Given the description of an element on the screen output the (x, y) to click on. 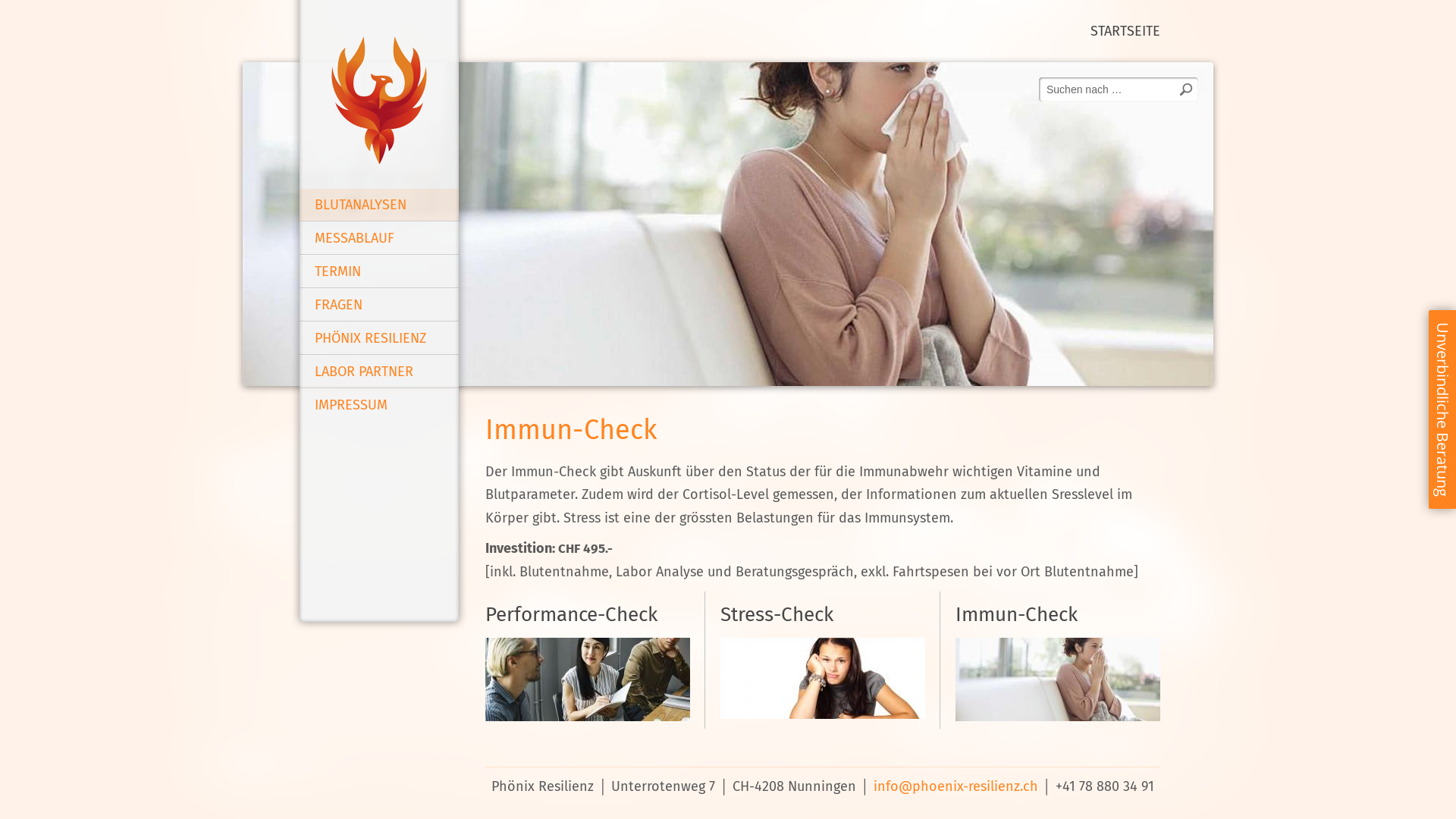
BLUTANALYSEN Element type: text (378, 204)
LABOR PARTNER Element type: text (378, 371)
info@phoenix-resilienz.ch Element type: text (955, 786)
MESSABLAUF Element type: text (378, 238)
FRAGEN Element type: text (378, 304)
TERMIN Element type: text (378, 271)
IMPRESSUM Element type: text (378, 404)
STARTSEITE Element type: text (1125, 30)
